Given the description of an element on the screen output the (x, y) to click on. 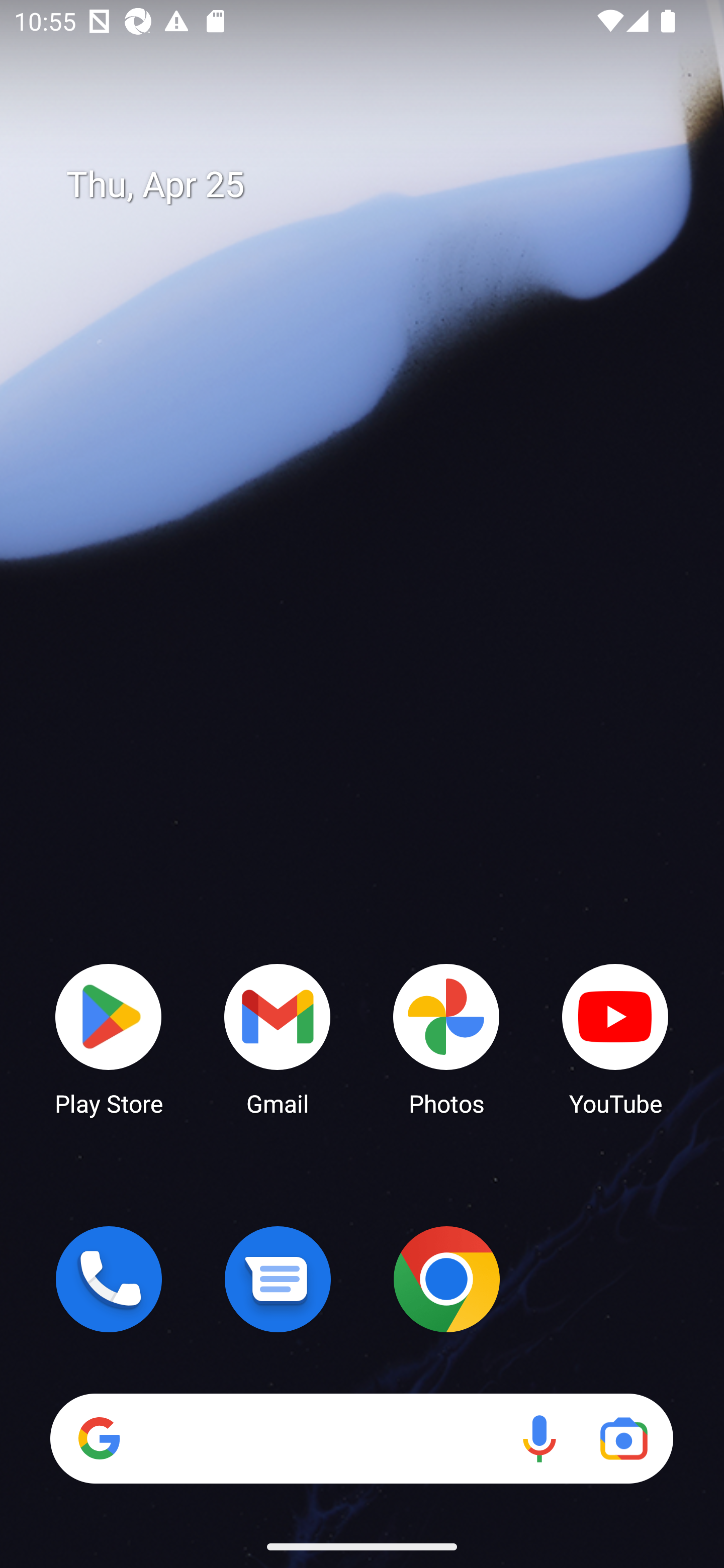
Thu, Apr 25 (375, 184)
Play Store (108, 1038)
Gmail (277, 1038)
Photos (445, 1038)
YouTube (615, 1038)
Phone (108, 1279)
Messages (277, 1279)
Chrome (446, 1279)
Search Voice search Google Lens (361, 1438)
Voice search (539, 1438)
Google Lens (623, 1438)
